Given the description of an element on the screen output the (x, y) to click on. 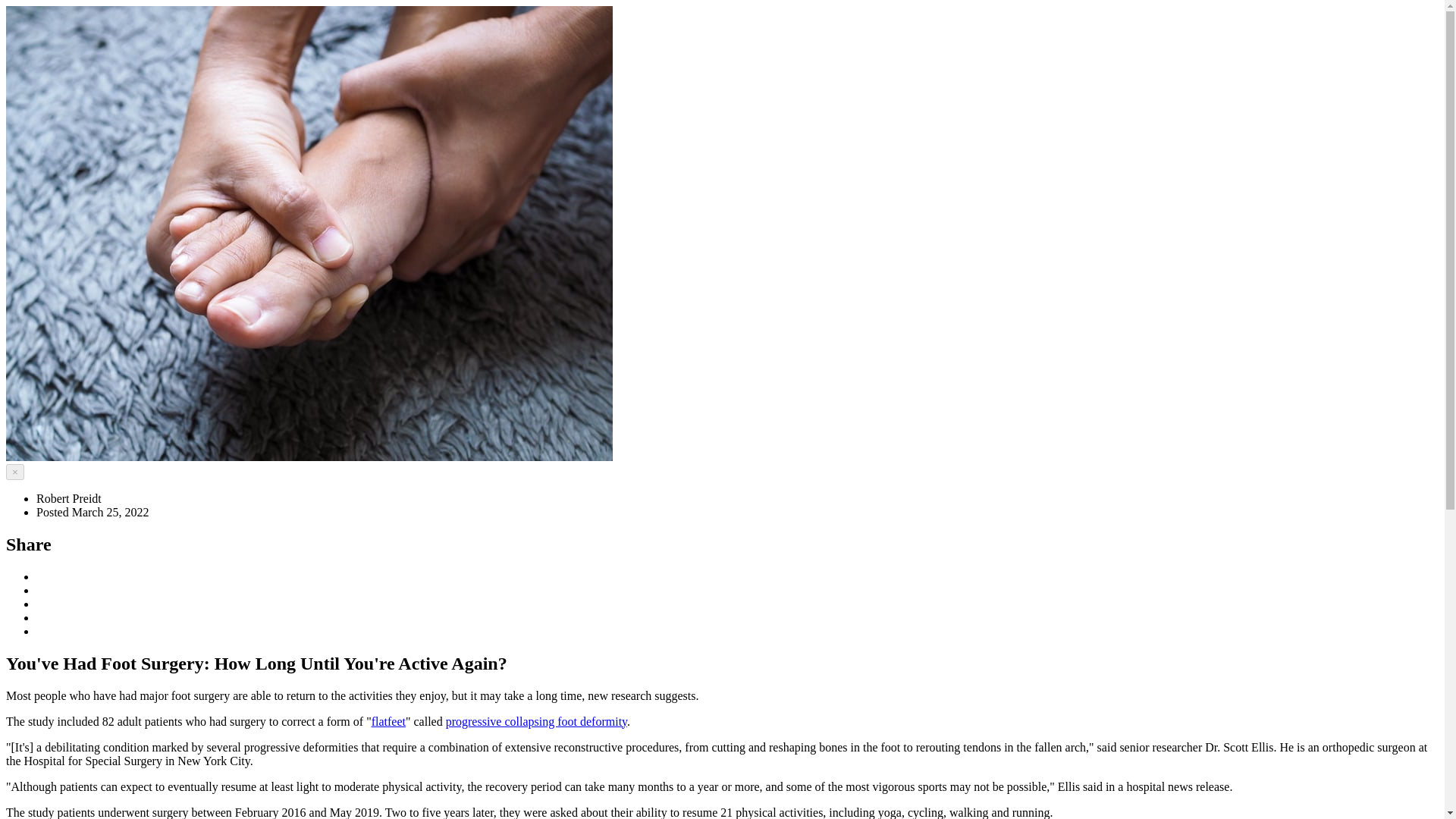
progressive collapsing foot deformity (536, 721)
flatfeet (388, 721)
